Given the description of an element on the screen output the (x, y) to click on. 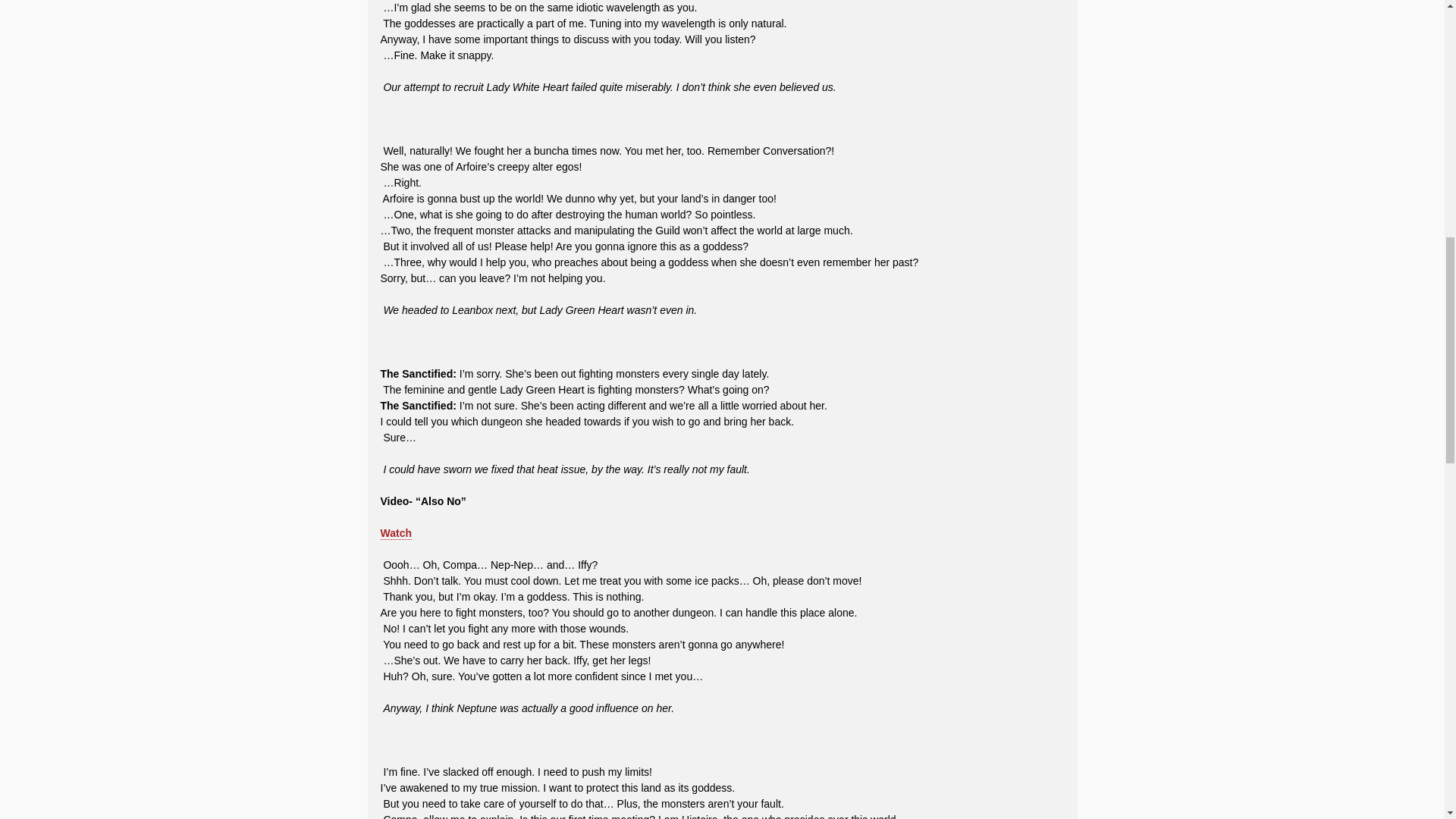
Watch (396, 541)
